Given the description of an element on the screen output the (x, y) to click on. 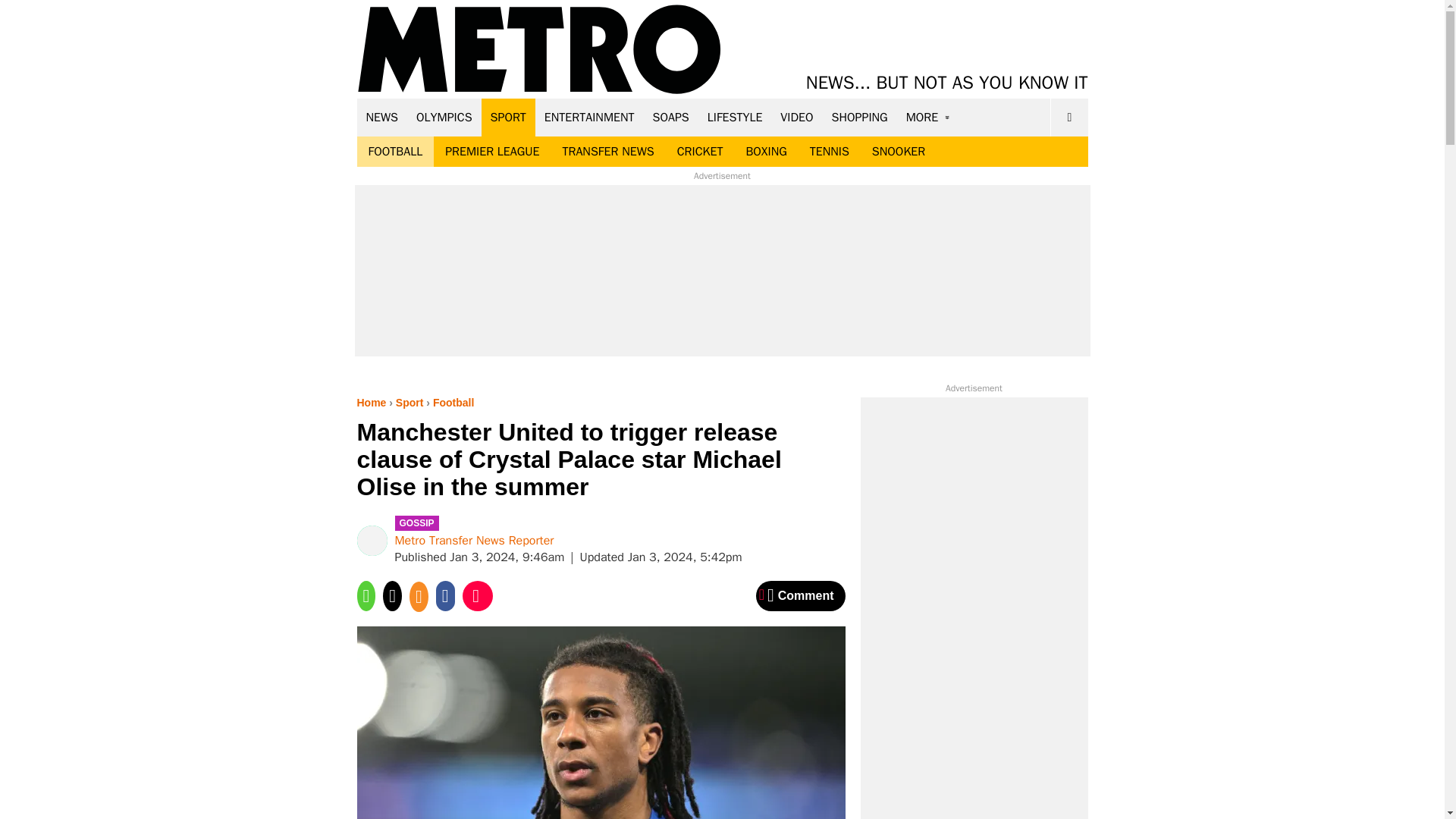
Metro (539, 50)
ENTERTAINMENT (589, 117)
TRANSFER NEWS (607, 151)
CRICKET (700, 151)
SNOOKER (898, 151)
TENNIS (828, 151)
LIFESTYLE (734, 117)
NEWS (381, 117)
BOXING (765, 151)
SPORT (508, 117)
